Given the description of an element on the screen output the (x, y) to click on. 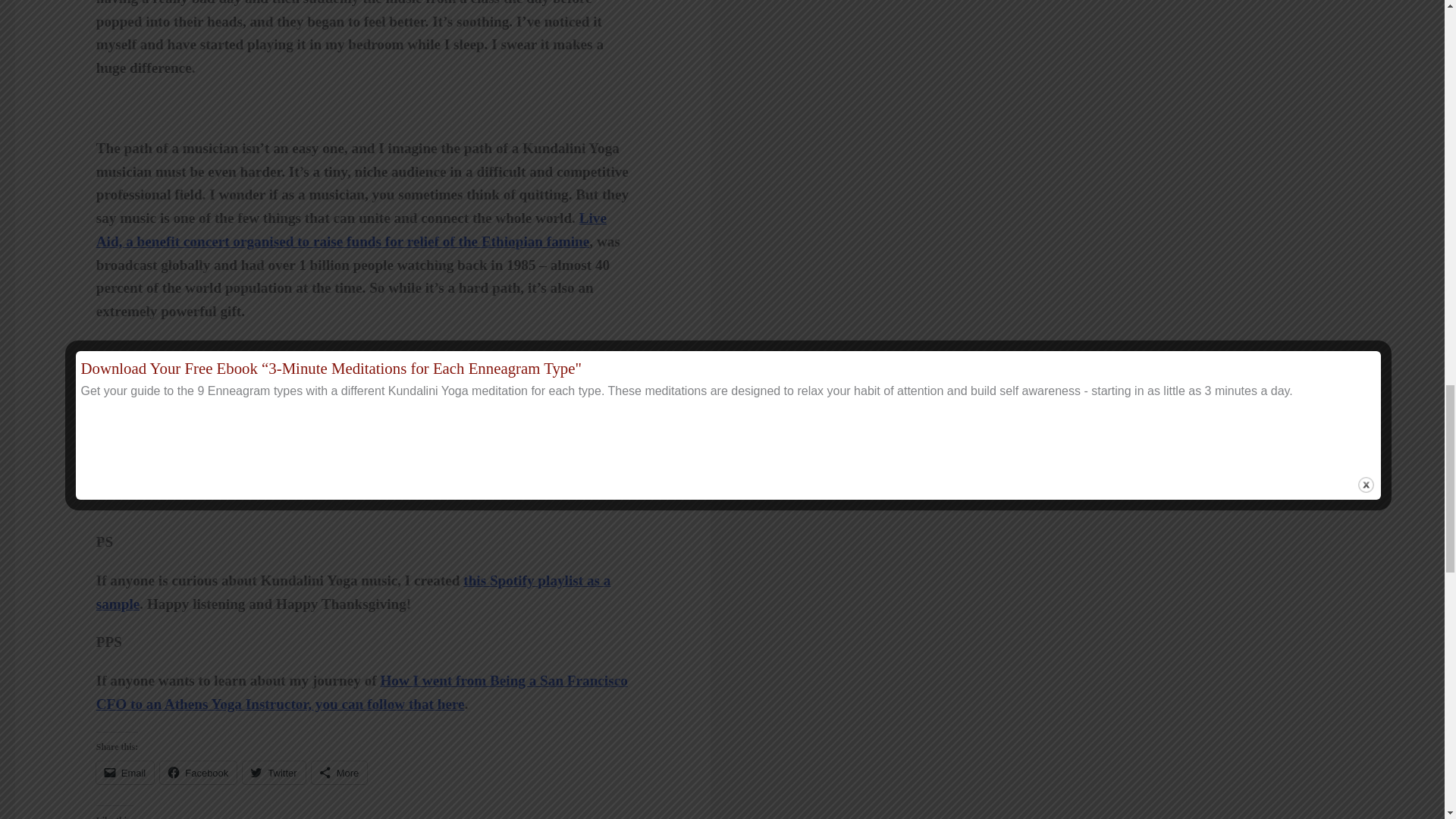
Click to share on Facebook (197, 772)
Click to share on Twitter (273, 772)
Click to email a link to a friend (125, 772)
